Given the description of an element on the screen output the (x, y) to click on. 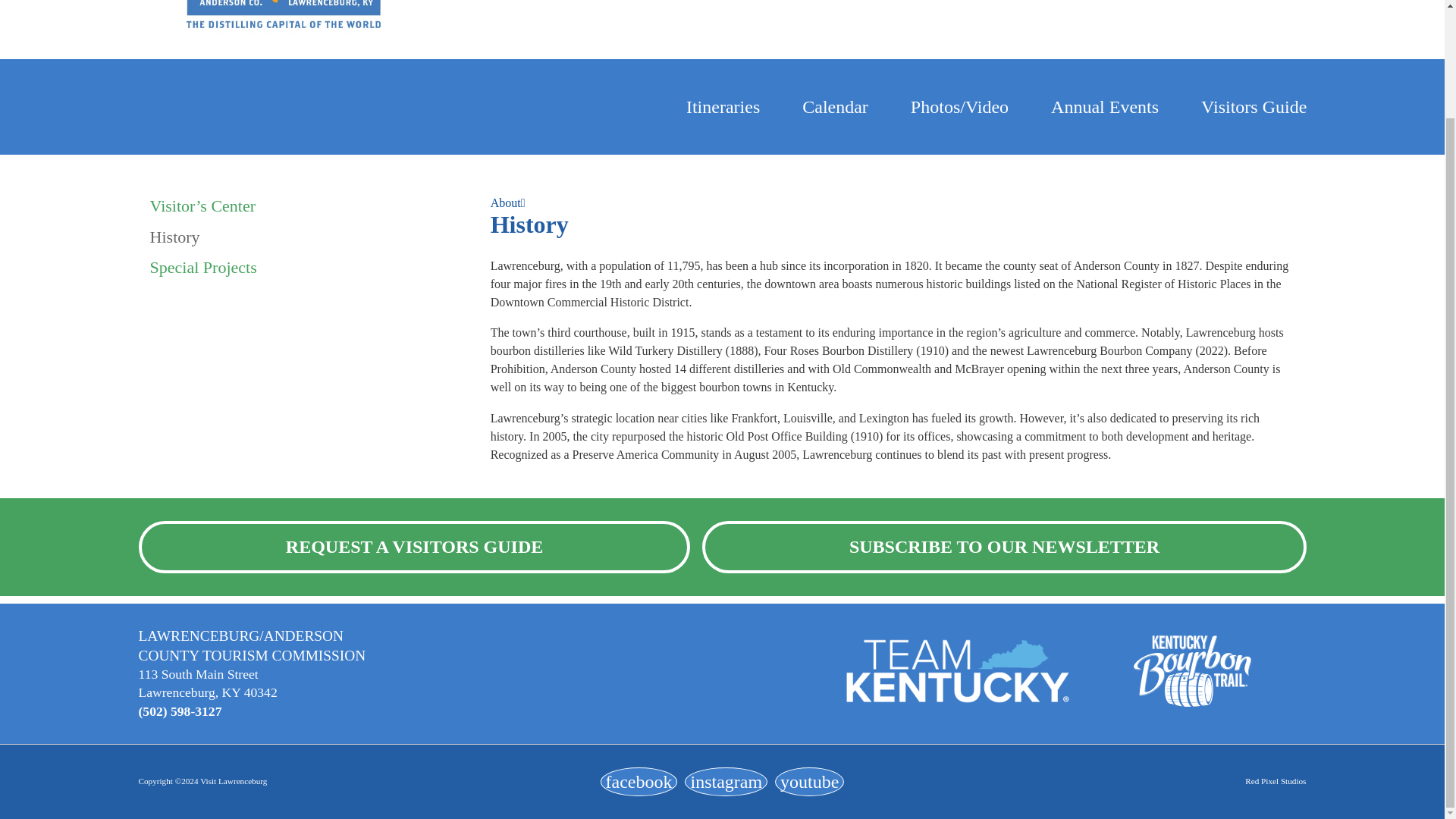
Opens in a new tab or window (638, 781)
Annual Events (1104, 107)
Visitors Guide (1253, 107)
EAT (1268, 2)
Itineraries (722, 107)
STAY (1005, 2)
Opens in a new tab or window (725, 781)
OUR SPIRIT (786, 2)
About (505, 202)
DO (1141, 2)
Calendar (834, 107)
Opens in a new tab or window (809, 781)
